Given the description of an element on the screen output the (x, y) to click on. 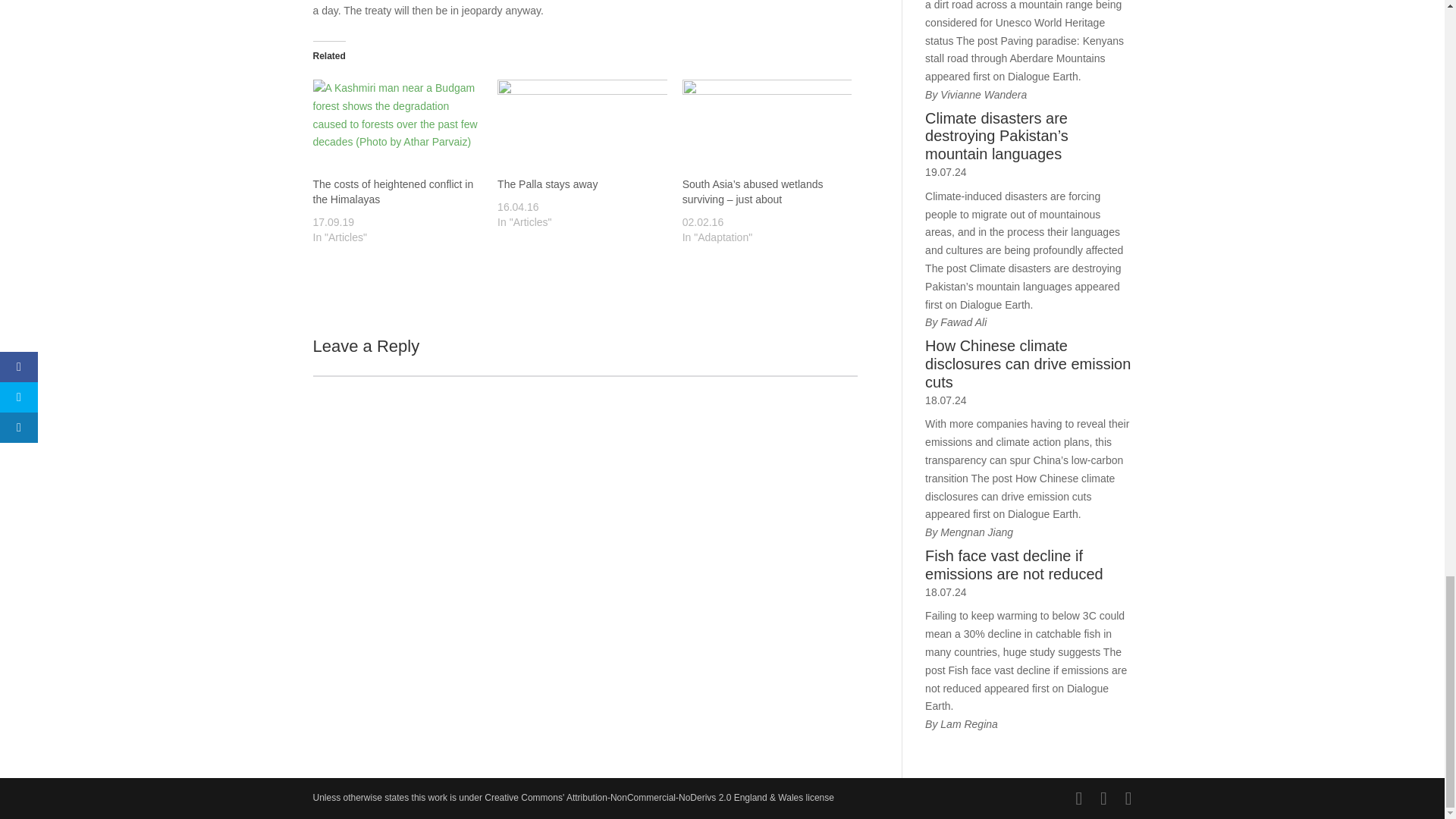
The costs of heightened conflict in the Himalayas (393, 191)
How Chinese climate disclosures can drive emission cuts (1027, 364)
The Palla stays away (581, 127)
The Palla stays away (546, 184)
Fish face vast decline if emissions are not reduced (1027, 565)
The costs of heightened conflict in the Himalayas (397, 127)
The costs of heightened conflict in the Himalayas (393, 191)
The Palla stays away (546, 184)
